Given the description of an element on the screen output the (x, y) to click on. 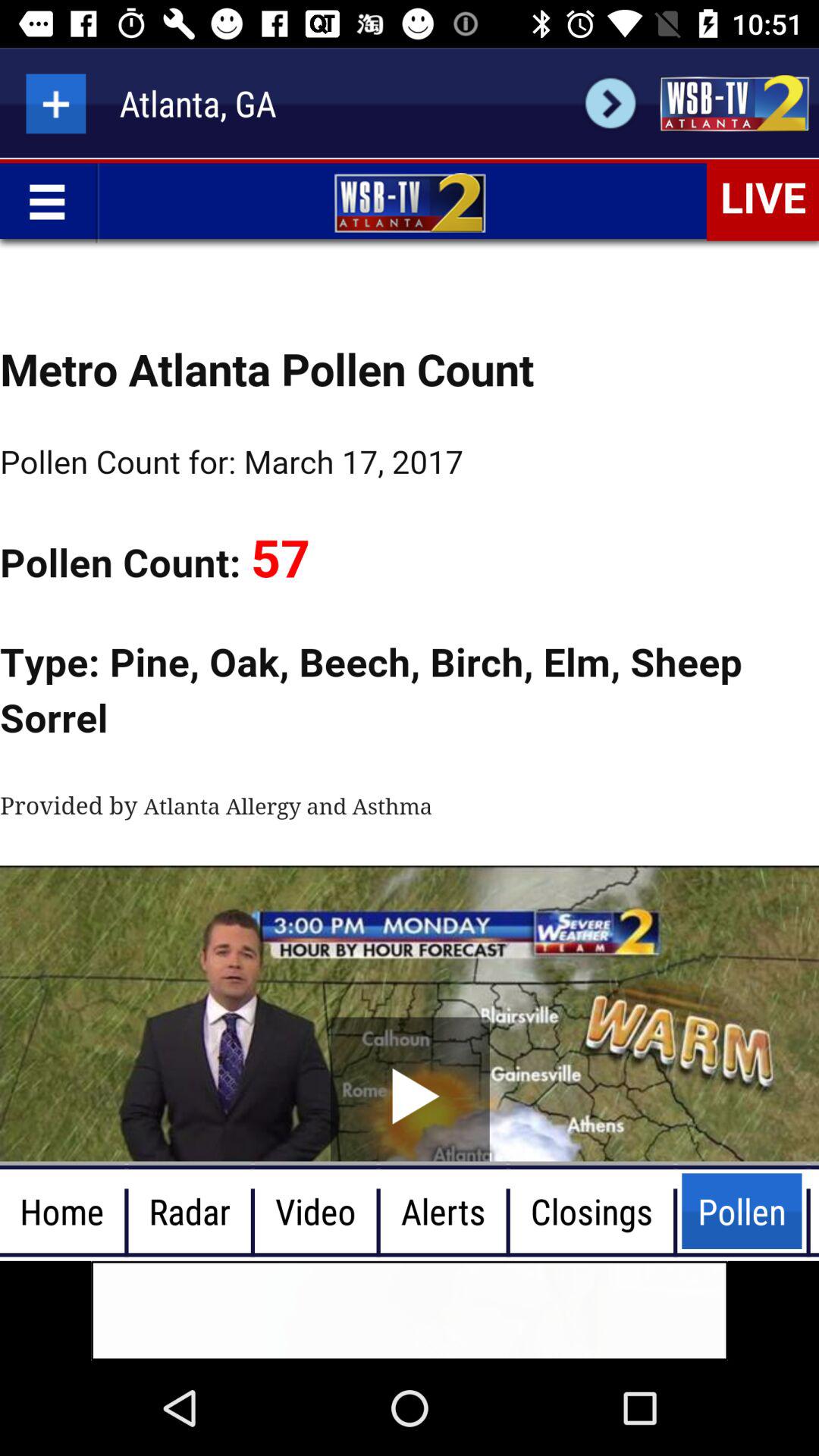
add location (55, 103)
